Given the description of an element on the screen output the (x, y) to click on. 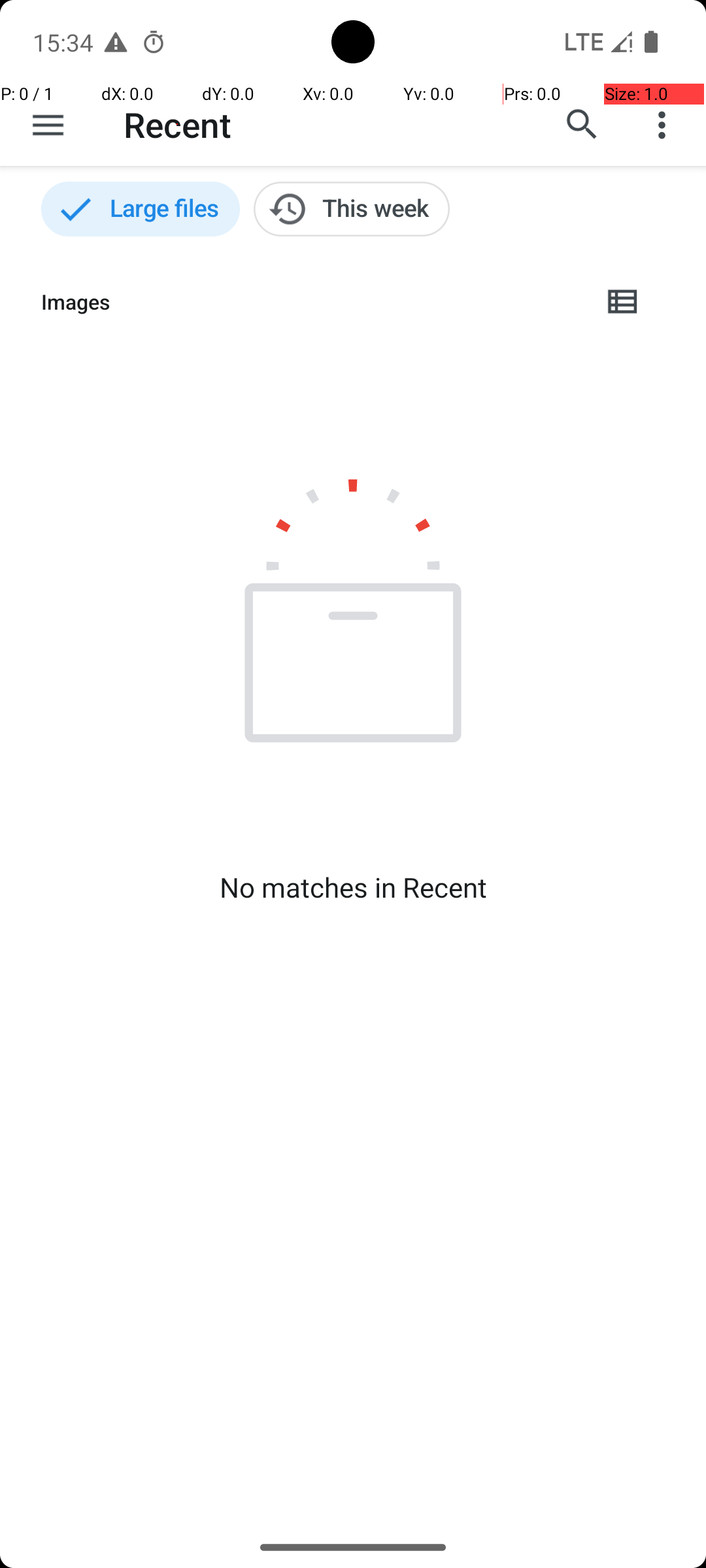
No matches in Recent Element type: android.widget.TextView (352, 886)
